Given the description of an element on the screen output the (x, y) to click on. 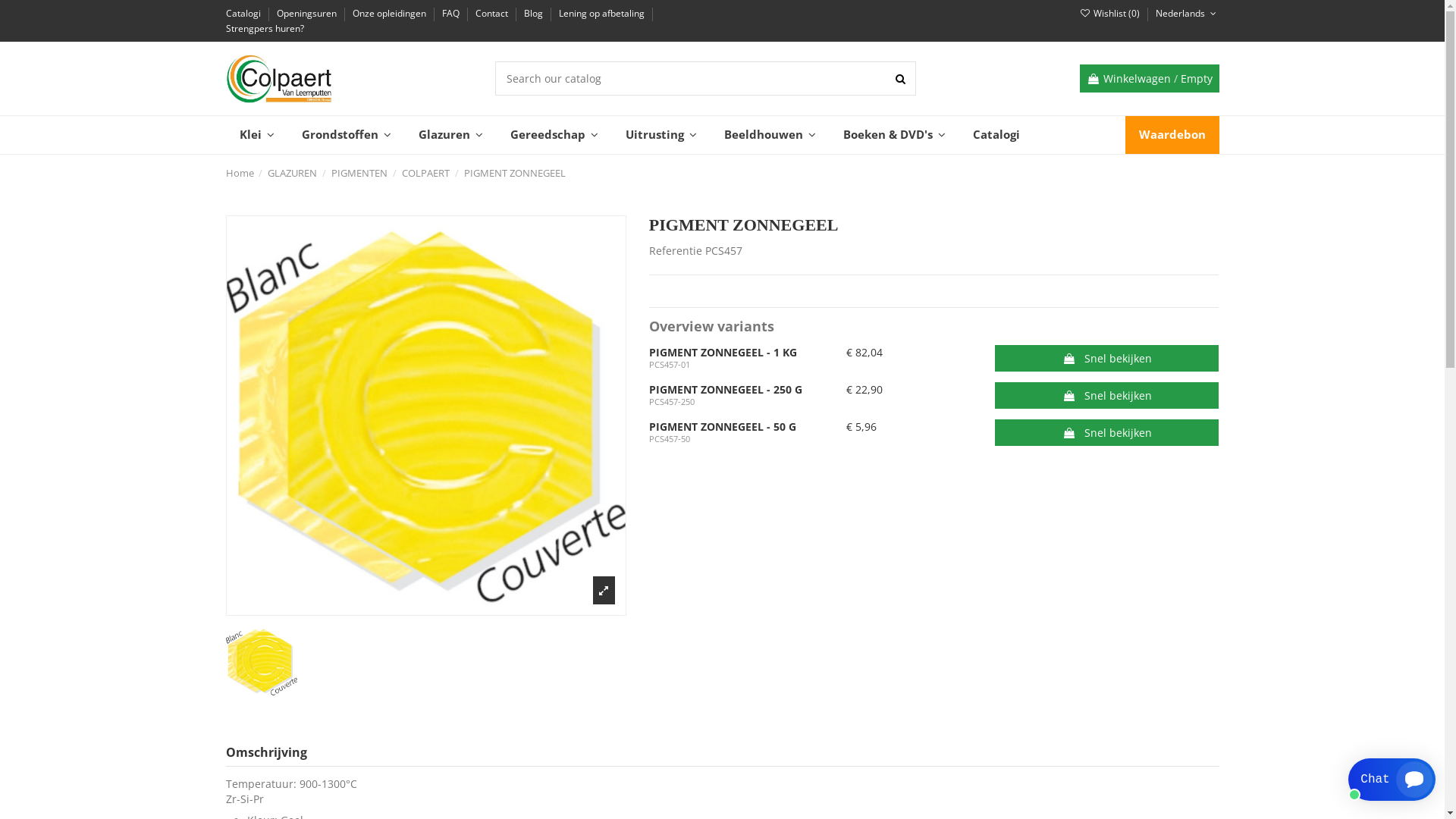
Uitrusting Element type: text (660, 134)
FAQ Element type: text (451, 12)
Strengpers huren? Element type: text (264, 27)
Home Element type: text (239, 172)
Catalogi Element type: text (244, 12)
Klei Element type: text (256, 134)
Waardebon Element type: text (1172, 134)
Beeldhouwen Element type: text (768, 134)
Grondstoffen Element type: text (346, 134)
PIGMENT ZONNEGEEL - 1 KG Element type: text (723, 352)
Boeken & DVD's Element type: text (894, 134)
Openingsuren Element type: text (307, 12)
PIGMENT ZONNEGEEL - 50 G Element type: text (722, 426)
Contact Element type: text (491, 12)
Glazuren Element type: text (450, 134)
Snel bekijken Element type: text (1106, 358)
Gereedschap Element type: text (553, 134)
Catalogi Element type: text (995, 134)
Nederlands Element type: text (1186, 12)
Blog Element type: text (533, 12)
Smartsupp widget button Element type: hover (1391, 779)
Winkelwagen / Empty Element type: text (1149, 78)
Lening op afbetaling Element type: text (602, 12)
GLAZUREN Element type: text (291, 172)
Onze opleidingen Element type: text (389, 12)
PIGMENTEN Element type: text (359, 172)
COLPAERT Element type: text (425, 172)
Wishlist (0) Element type: text (1110, 12)
PIGMENT ZONNEGEEL - 250 G Element type: text (725, 389)
Snel bekijken Element type: text (1106, 432)
Snel bekijken Element type: text (1106, 395)
